Given the description of an element on the screen output the (x, y) to click on. 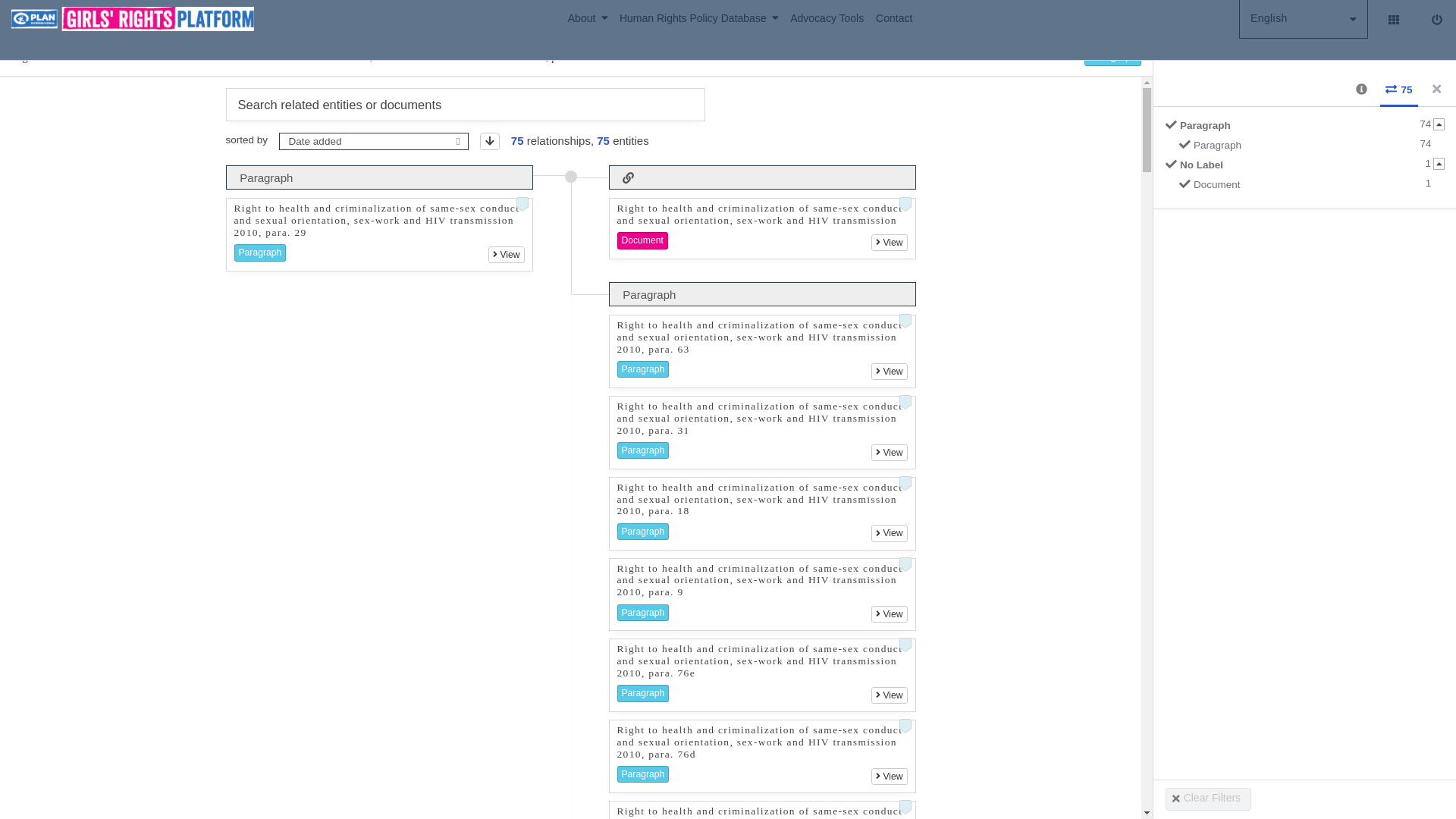
Paragraph (1310, 148)
Document (1310, 187)
View (888, 242)
View (888, 452)
View (888, 614)
Contact (893, 18)
Human Rights Policy Database  (705, 18)
View (888, 371)
About  (593, 18)
View (888, 532)
View (505, 254)
Advocacy Tools (832, 18)
